Given the description of an element on the screen output the (x, y) to click on. 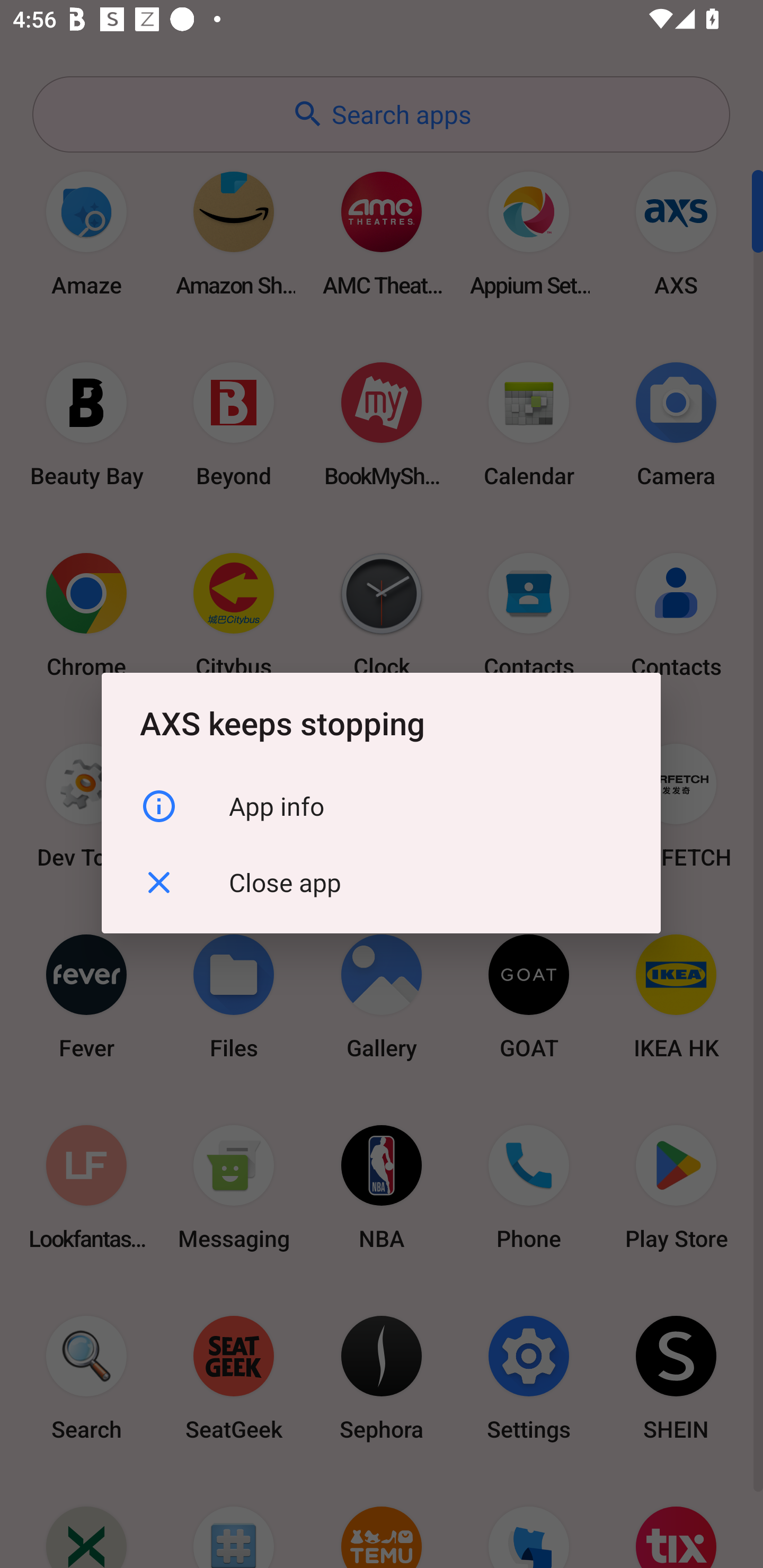
App info (380, 806)
Close app (380, 882)
